Given the description of an element on the screen output the (x, y) to click on. 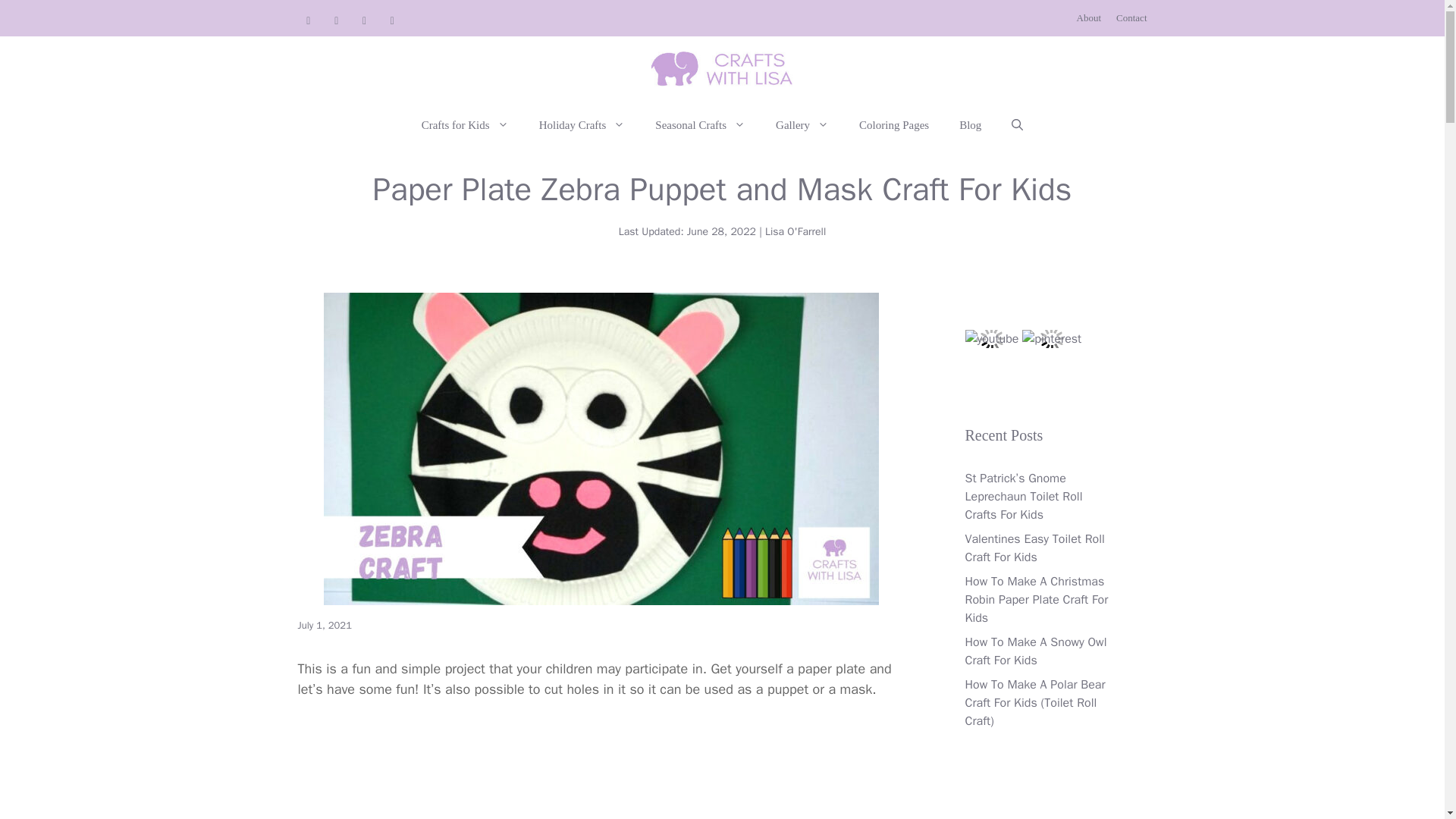
Facebook (364, 21)
Paper Plate Zebra Puppet and Mask Craft For Kids (600, 769)
Contact (1131, 17)
Crafts for Kids (465, 125)
About (1089, 17)
youtube (990, 339)
pinterest (1051, 339)
Instagram (391, 21)
Pinterest (336, 21)
View all posts by Lisa O'Farrell (795, 231)
YouTube (307, 21)
